Given the description of an element on the screen output the (x, y) to click on. 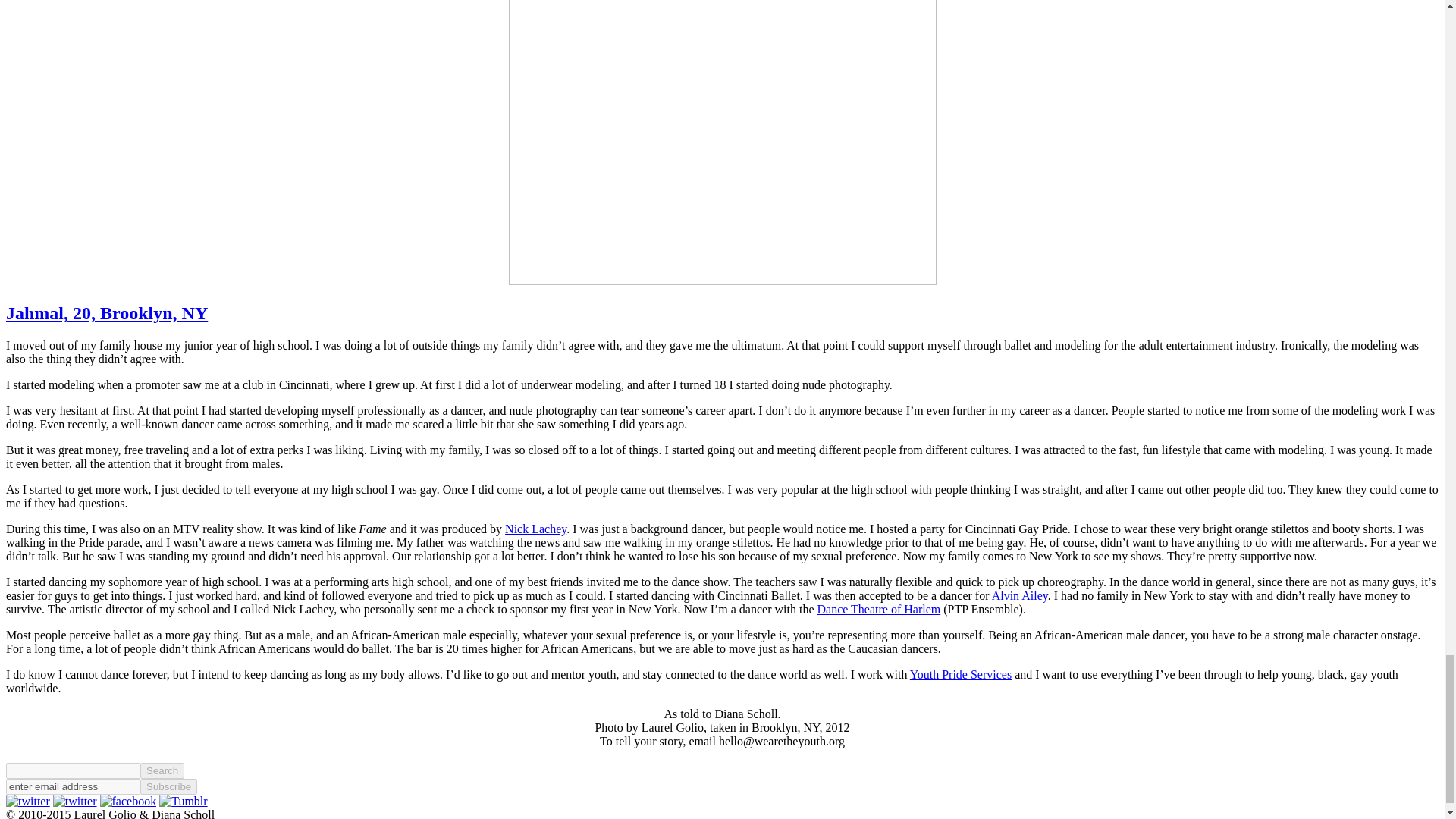
Nick Lachey (535, 528)
Dance Theatre of Harlem (878, 608)
Jahmal, 20, Brooklyn, NY (106, 312)
Search (161, 770)
Youth Pride Services (960, 674)
Alvin Ailey (1019, 594)
Do Something Growth Grant Winner (722, 142)
Subscribe (167, 786)
Subscribe (167, 786)
enter email address (72, 786)
Search (161, 770)
